Given the description of an element on the screen output the (x, y) to click on. 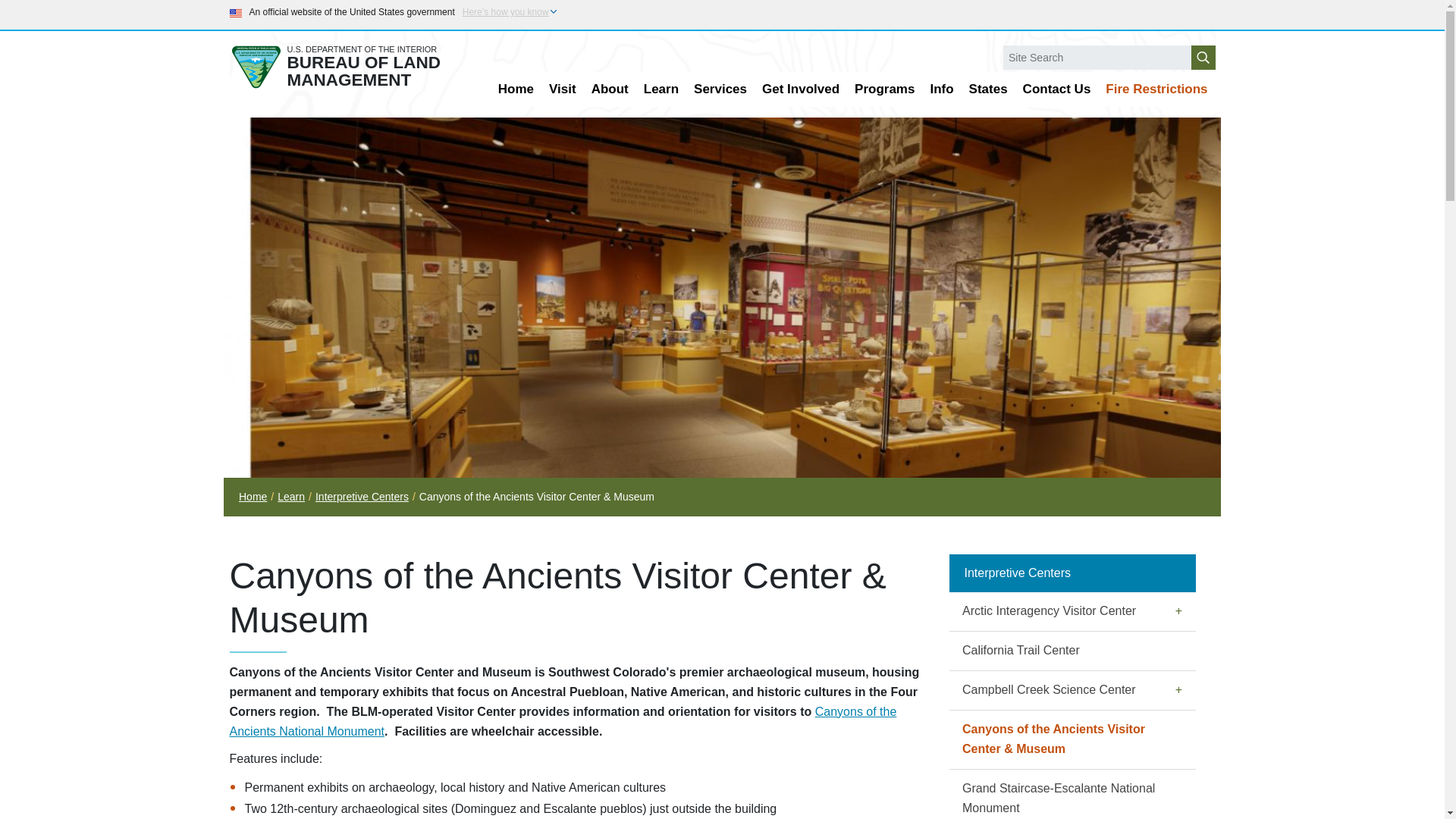
California Trail Center (1072, 650)
Bureau of Land Management Home Page (347, 66)
Submit (1202, 57)
Submit (1202, 57)
Visit (562, 89)
About (609, 89)
Home (515, 89)
Learn (660, 89)
